Given the description of an element on the screen output the (x, y) to click on. 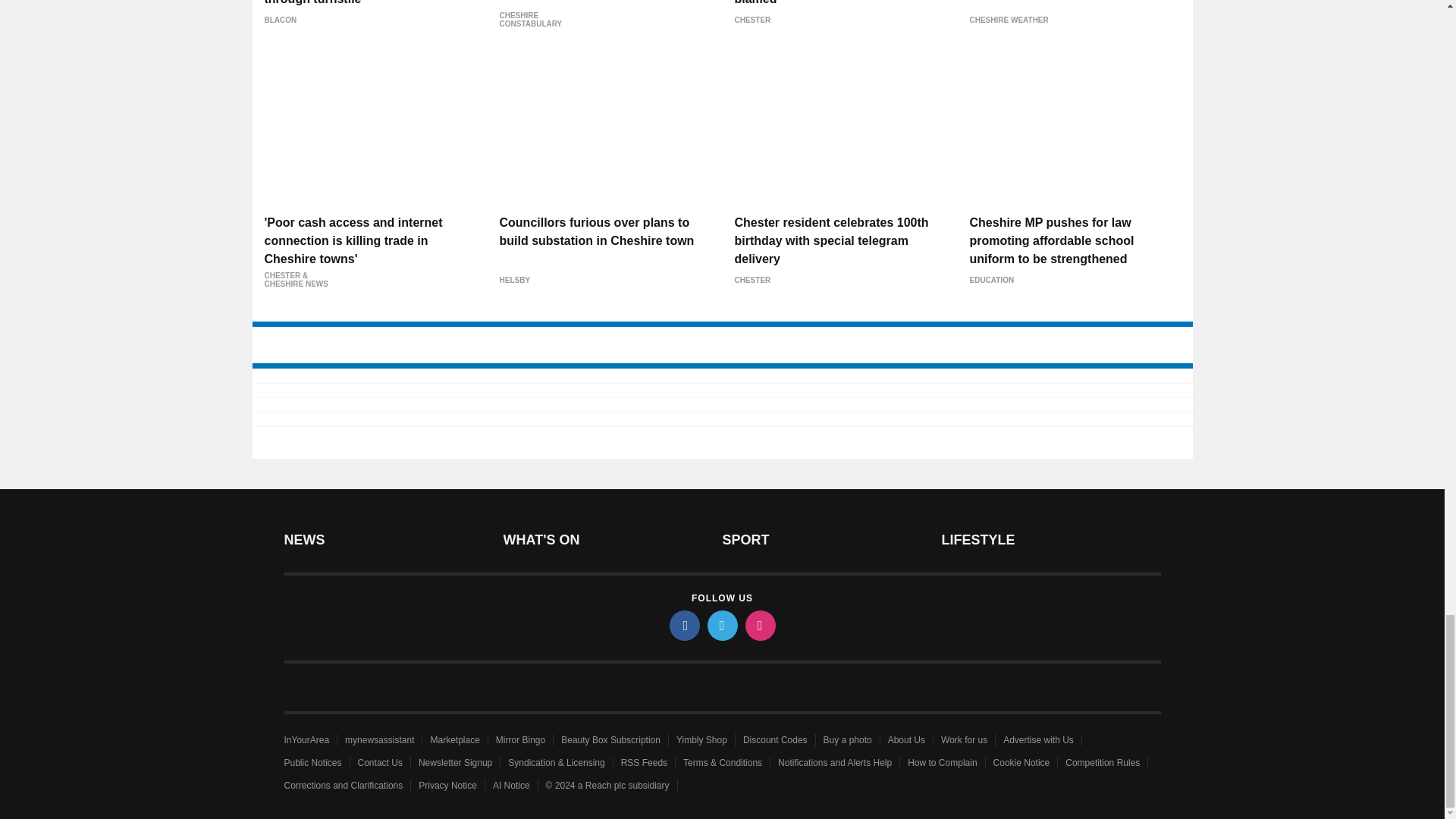
facebook (683, 625)
instagram (759, 625)
twitter (721, 625)
